Given the description of an element on the screen output the (x, y) to click on. 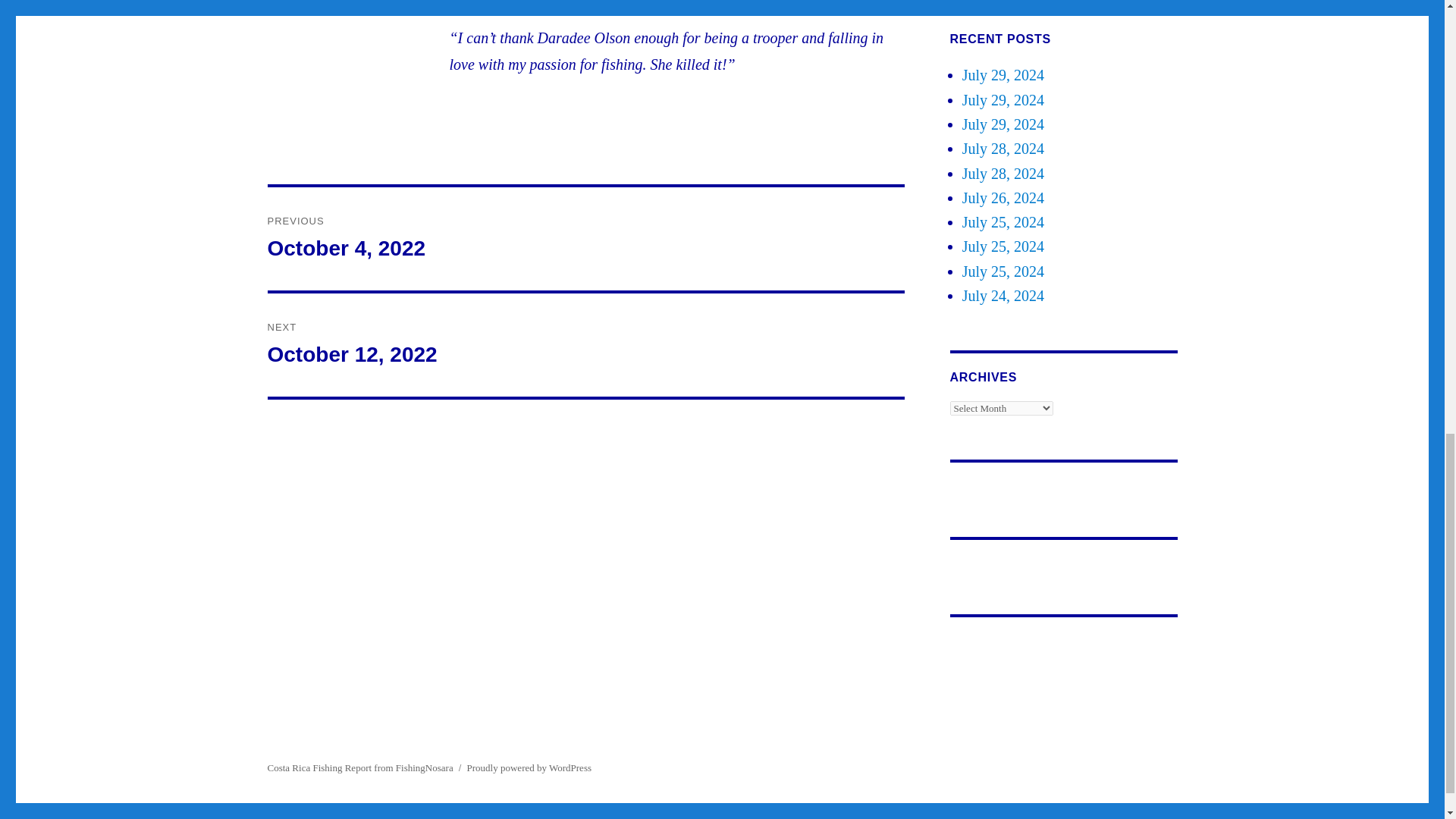
July 29, 2024 (1002, 74)
July 28, 2024 (1002, 173)
July 29, 2024 (1002, 124)
July 24, 2024 (1002, 295)
July 28, 2024 (1002, 148)
July 25, 2024 (1002, 271)
July 25, 2024 (1002, 221)
July 26, 2024 (585, 344)
July 25, 2024 (585, 238)
July 29, 2024 (1002, 197)
